Given the description of an element on the screen output the (x, y) to click on. 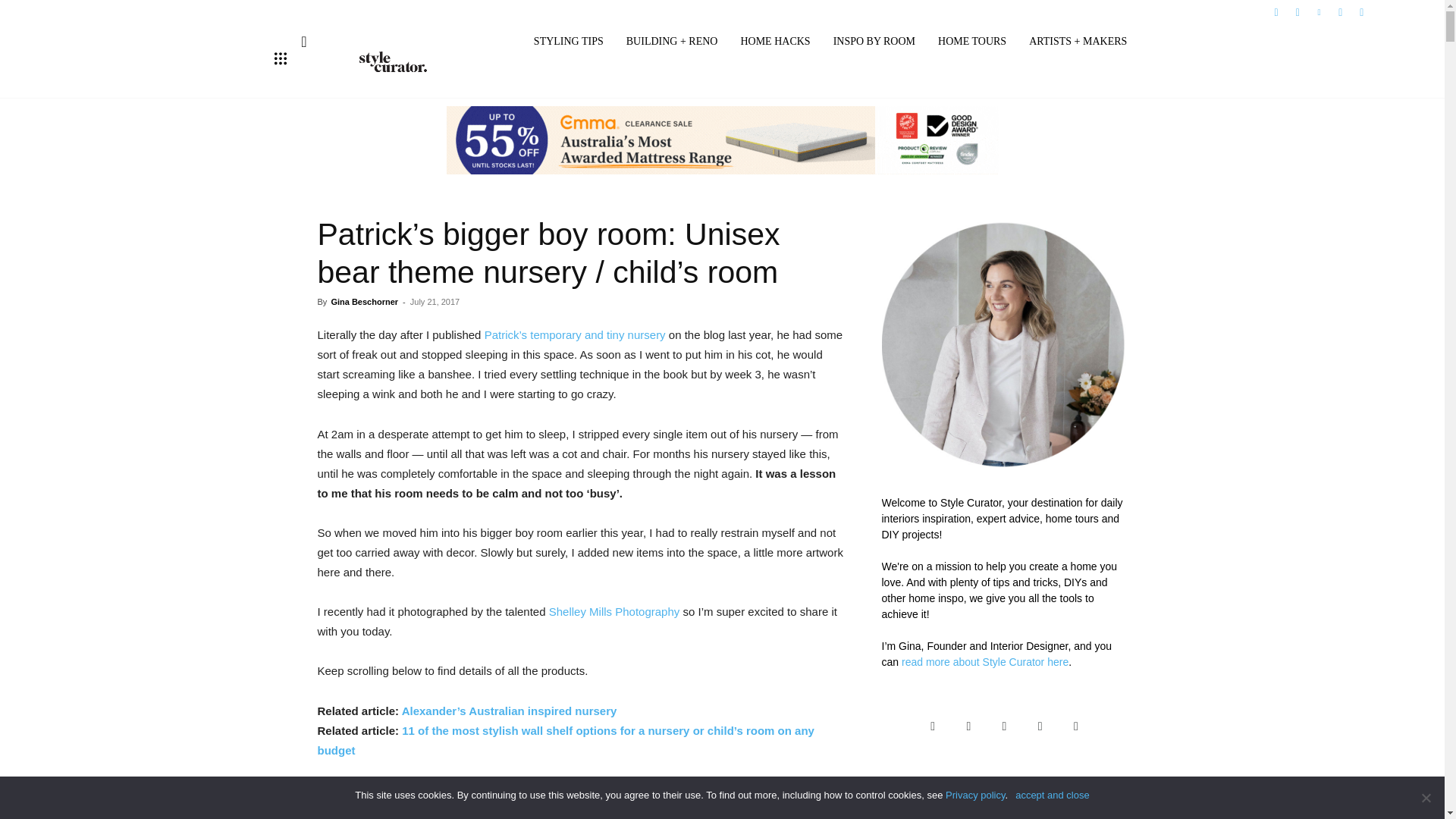
Tiktok (1340, 10)
Create a home you love (394, 61)
HOME HACKS (774, 41)
Youtube (1361, 10)
Pinterest (1317, 10)
Facebook (1275, 10)
Instagram (1297, 10)
STYLING TIPS (568, 41)
INSPO BY ROOM (874, 41)
